Given the description of an element on the screen output the (x, y) to click on. 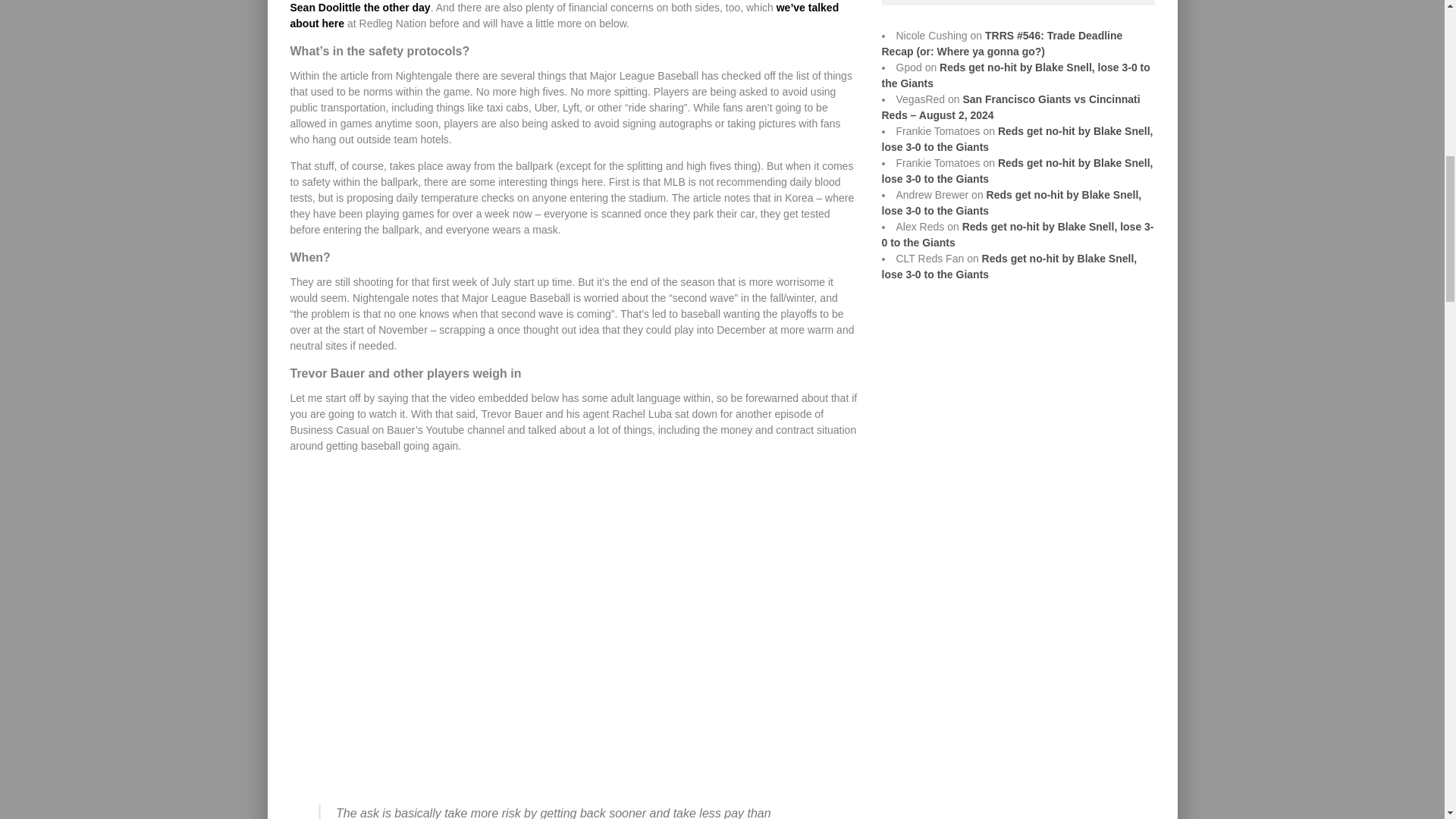
as laid out by Sean Doolittle the other day (566, 6)
